Given the description of an element on the screen output the (x, y) to click on. 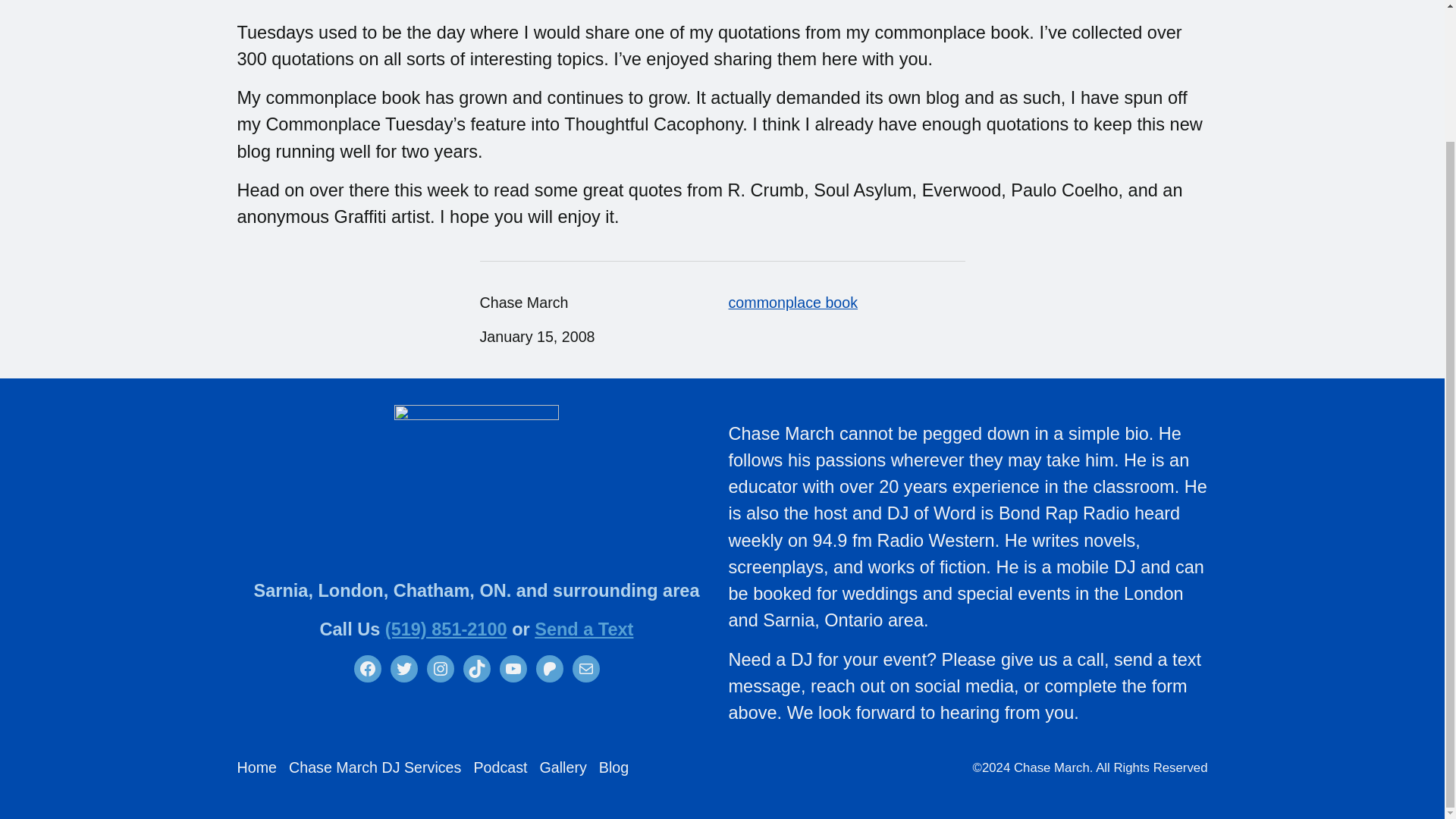
Instagram (439, 668)
Facebook (366, 668)
Home (255, 767)
TikTok (476, 668)
Patreon (548, 668)
YouTube (512, 668)
Gallery (562, 767)
Mail (585, 668)
Blog (613, 767)
commonplace book (792, 302)
